Given the description of an element on the screen output the (x, y) to click on. 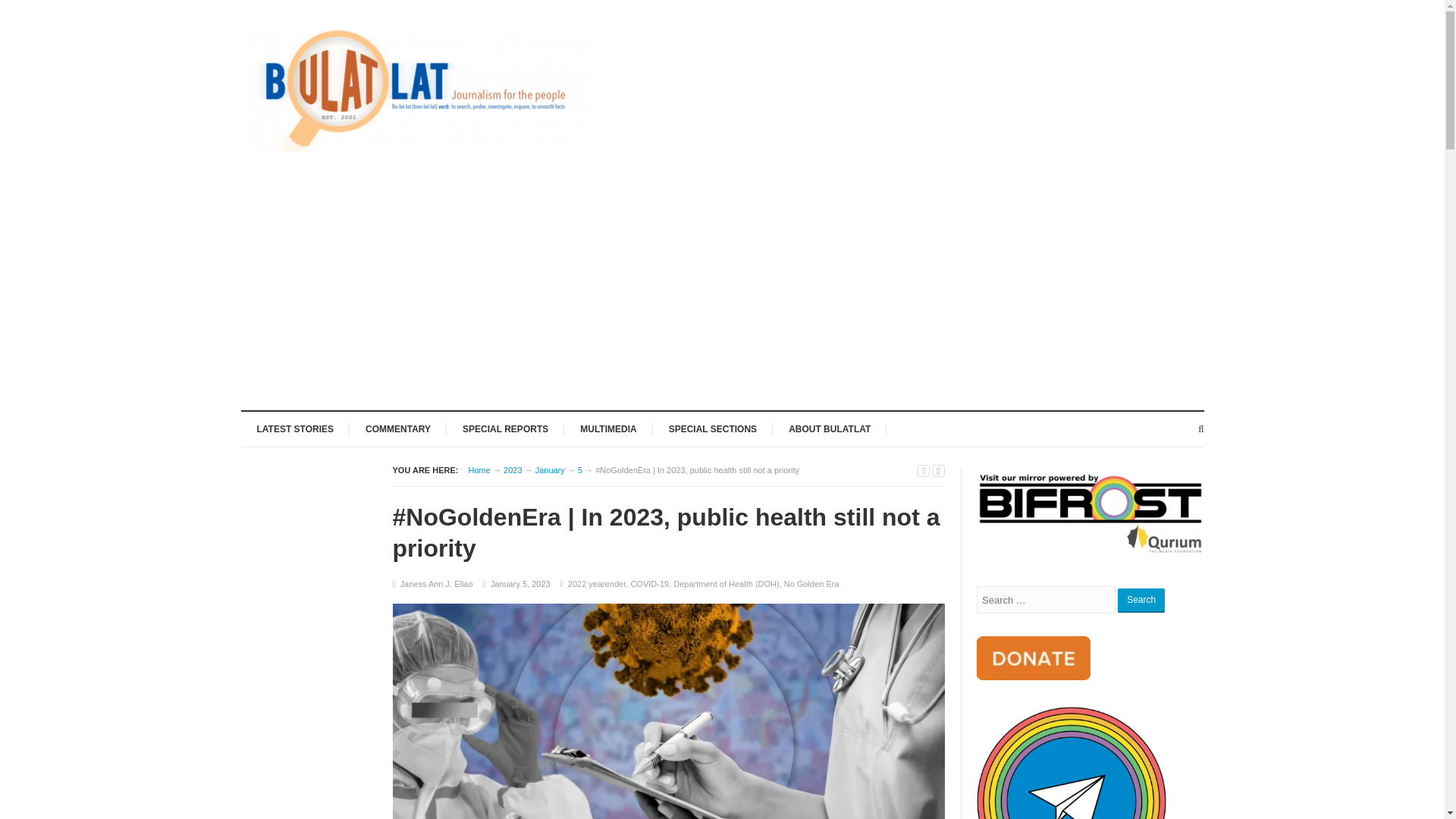
Bulatlat (479, 470)
LATEST STORIES (296, 428)
SPECIAL REPORTS (505, 428)
Thursday, January 5, 2023, 9:45 pm (520, 583)
COMMENTARY (397, 428)
MULTIMEDIA (608, 428)
SPECIAL SECTIONS (713, 428)
